Given the description of an element on the screen output the (x, y) to click on. 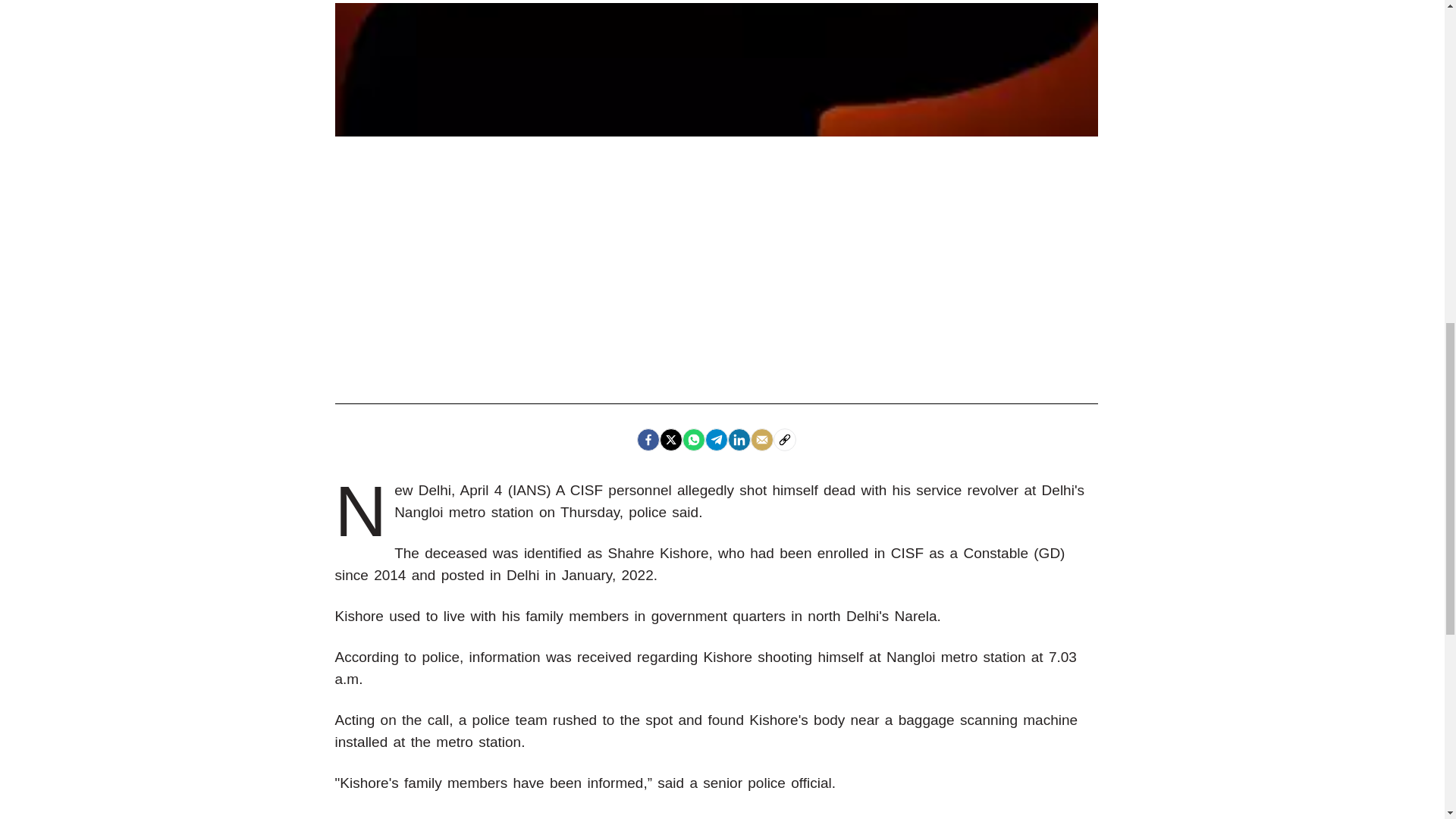
LinkedIn (739, 439)
Share by Email (762, 439)
